Given the description of an element on the screen output the (x, y) to click on. 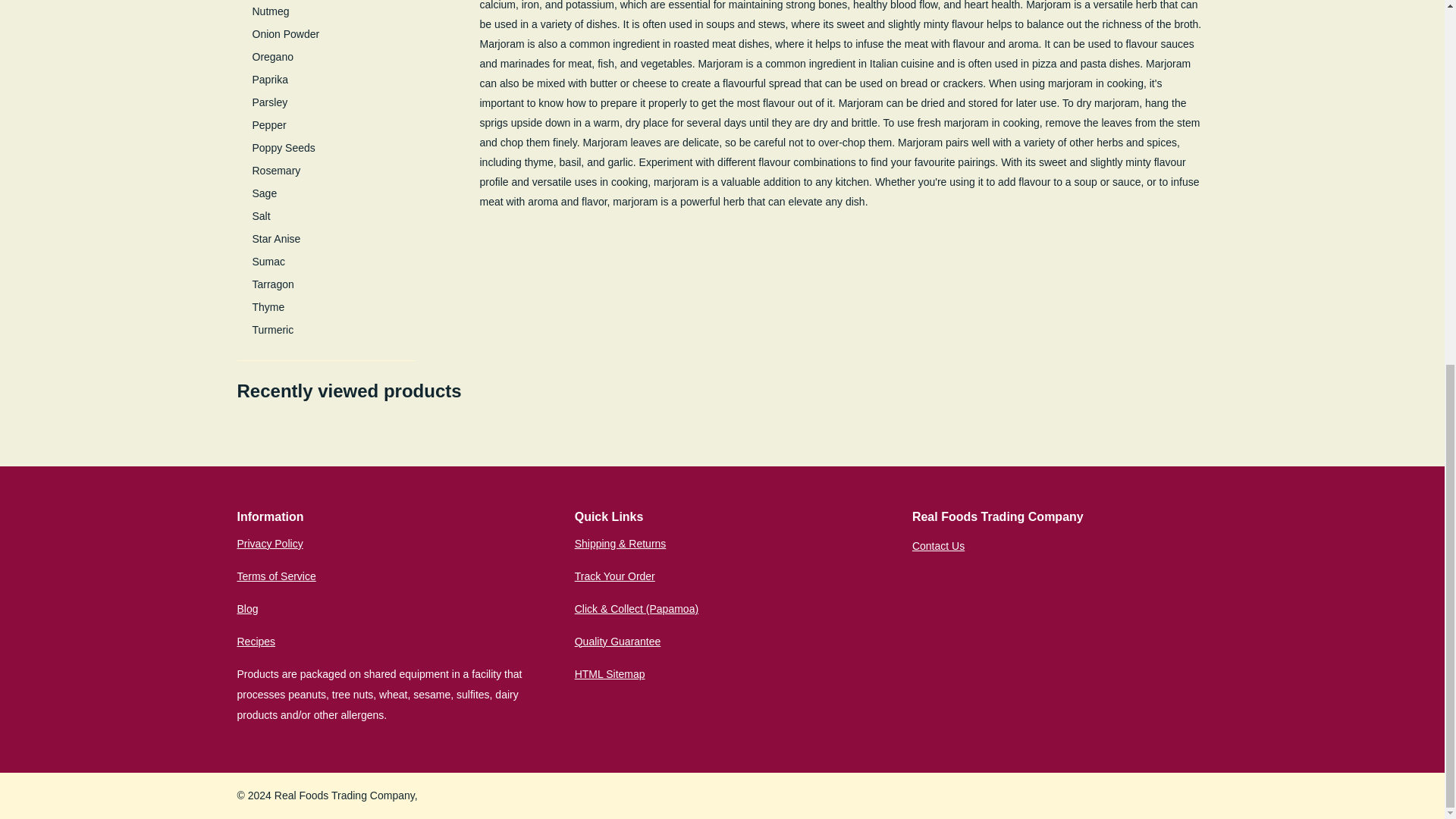
Terms of service (275, 576)
Quality Guarantee (618, 641)
Welcome to the Real Foods Blog (246, 608)
Real Foods Recipes (255, 641)
Track Your Order (615, 576)
Privacy Policy (268, 543)
